Given the description of an element on the screen output the (x, y) to click on. 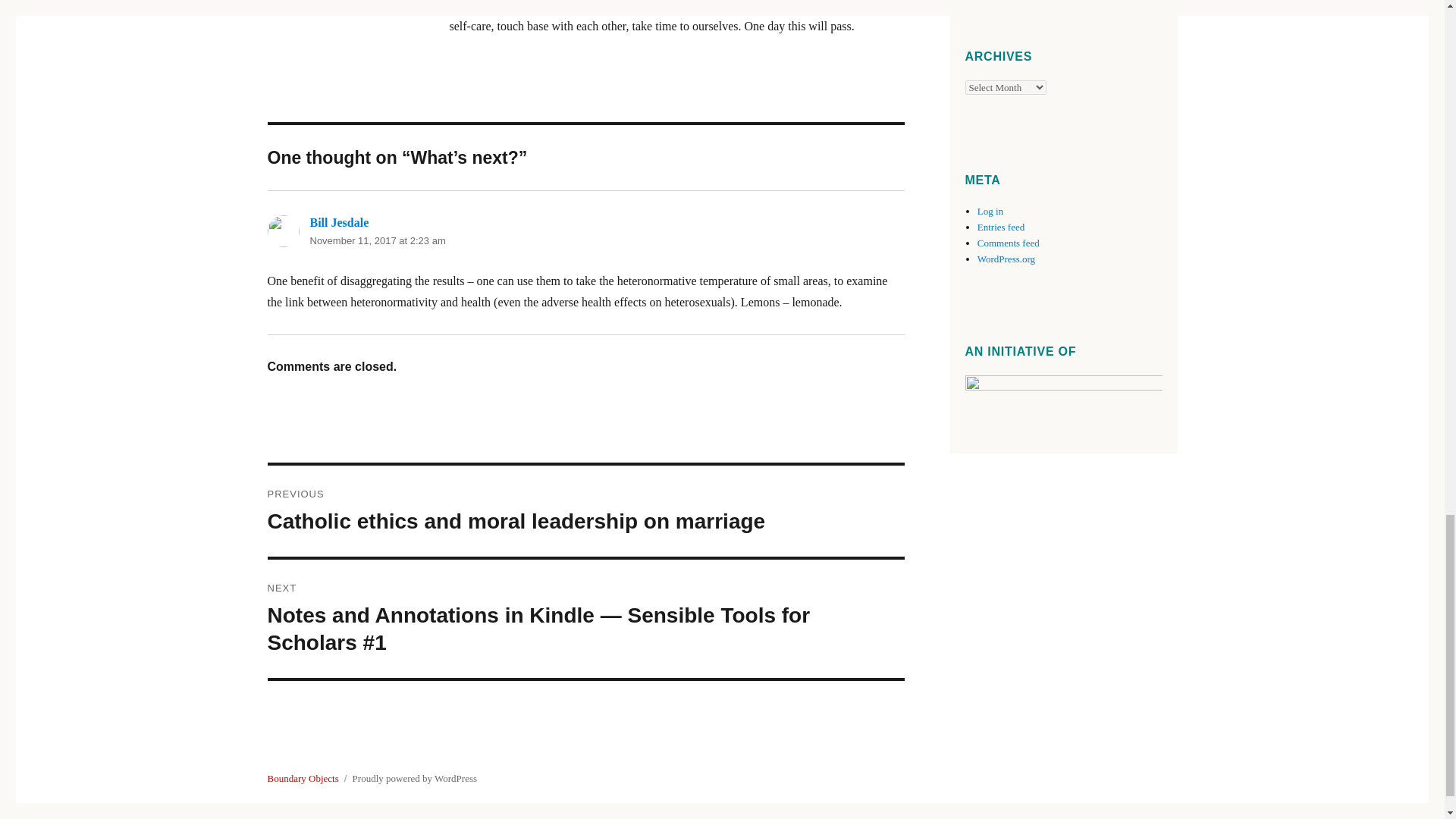
Log in (989, 211)
November 11, 2017 at 2:23 am (376, 240)
WordPress.org (1005, 258)
Comments feed (1007, 242)
Bill Jesdale (338, 222)
Entries feed (1000, 226)
